Given the description of an element on the screen output the (x, y) to click on. 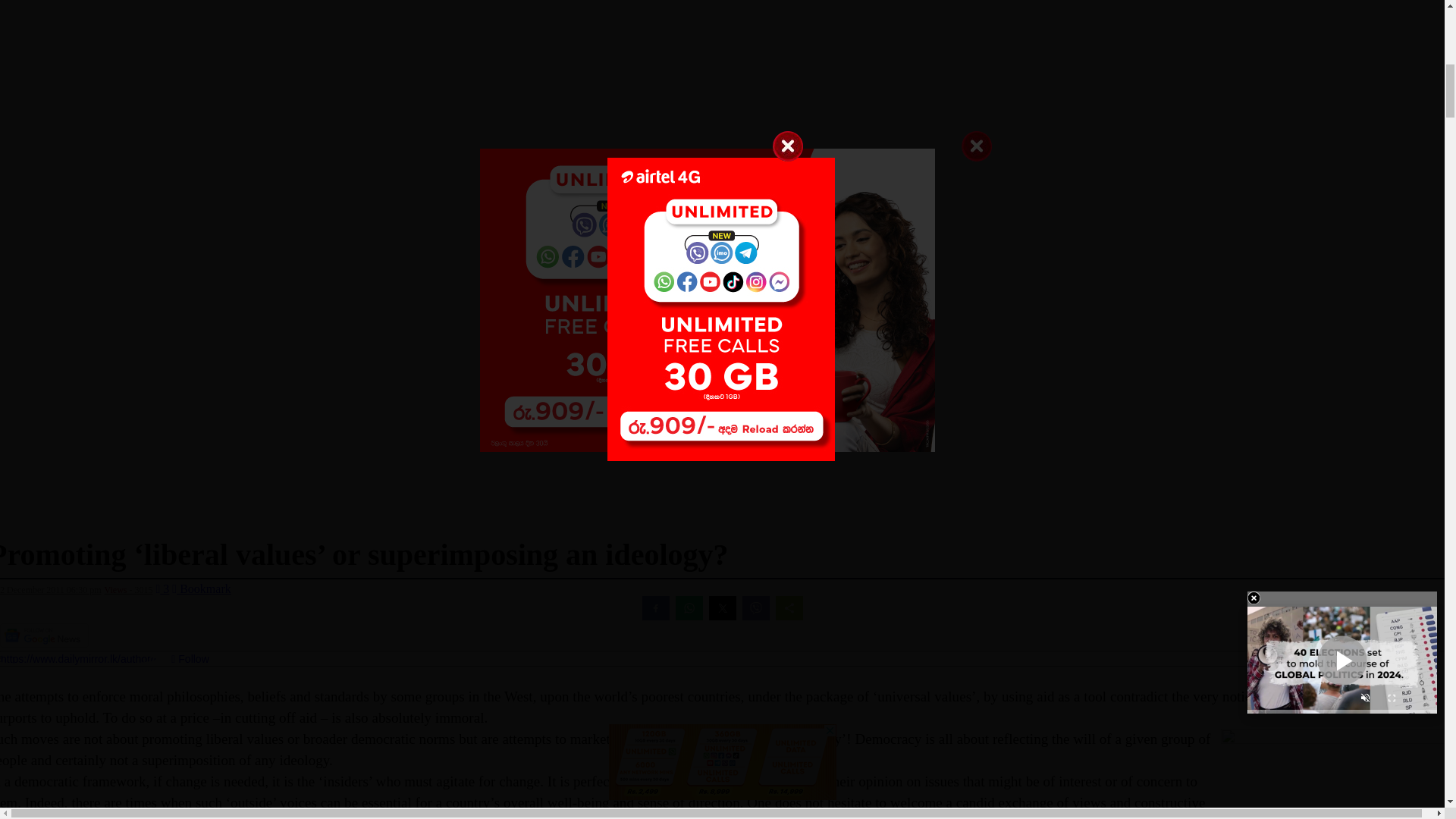
3rd party ad content (721, 403)
3rd party ad content (721, 132)
3rd party ad content (721, 319)
3rd party ad content (721, 486)
3rd party ad content (721, 38)
